Given the description of an element on the screen output the (x, y) to click on. 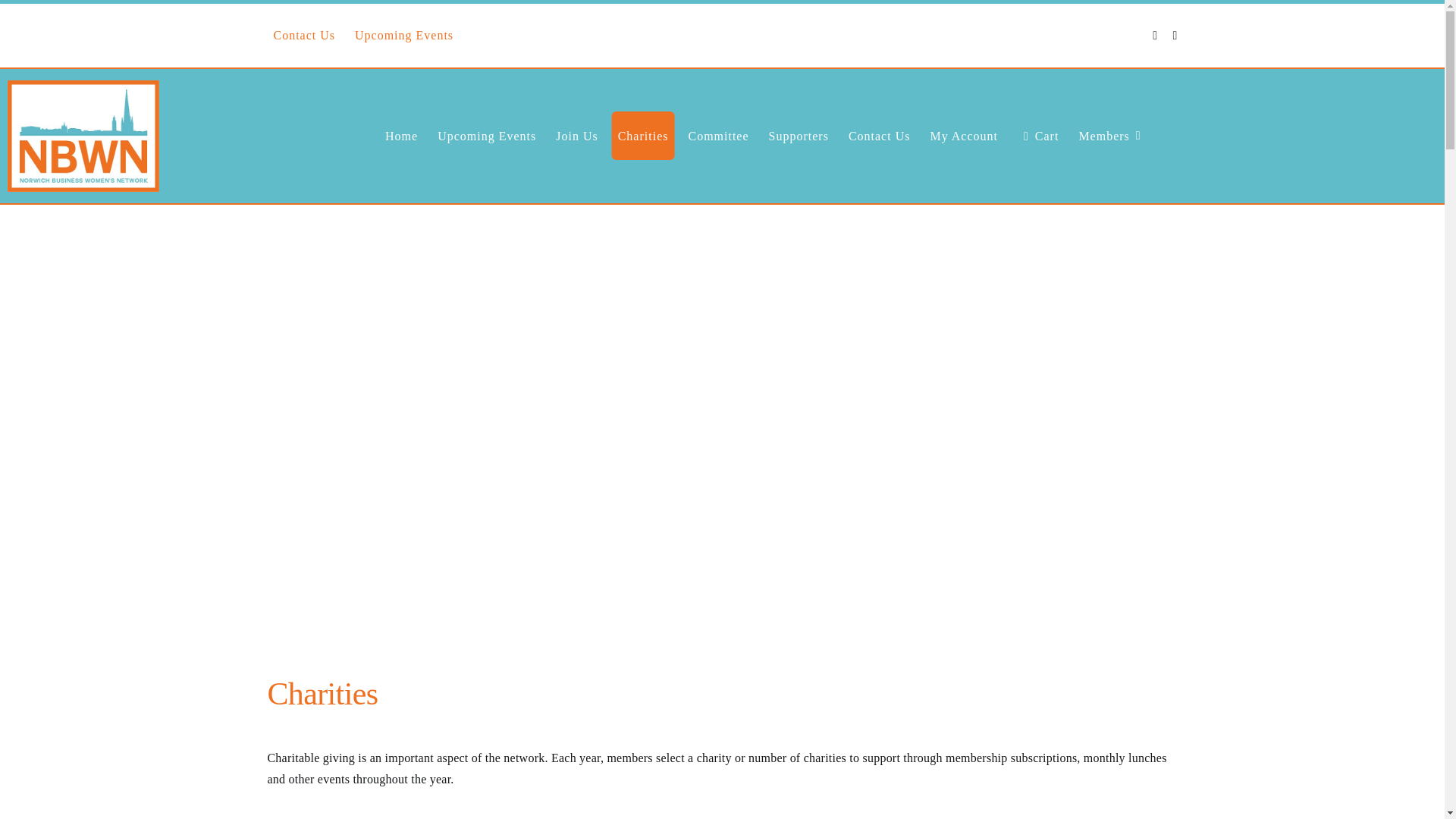
Home (400, 135)
Contact Us (880, 135)
Join Us (577, 135)
My Account (963, 135)
Charities (643, 135)
Upcoming Events (485, 135)
Committee (717, 135)
Contact Us (303, 35)
Cart (1037, 135)
Supporters (798, 135)
